Given the description of an element on the screen output the (x, y) to click on. 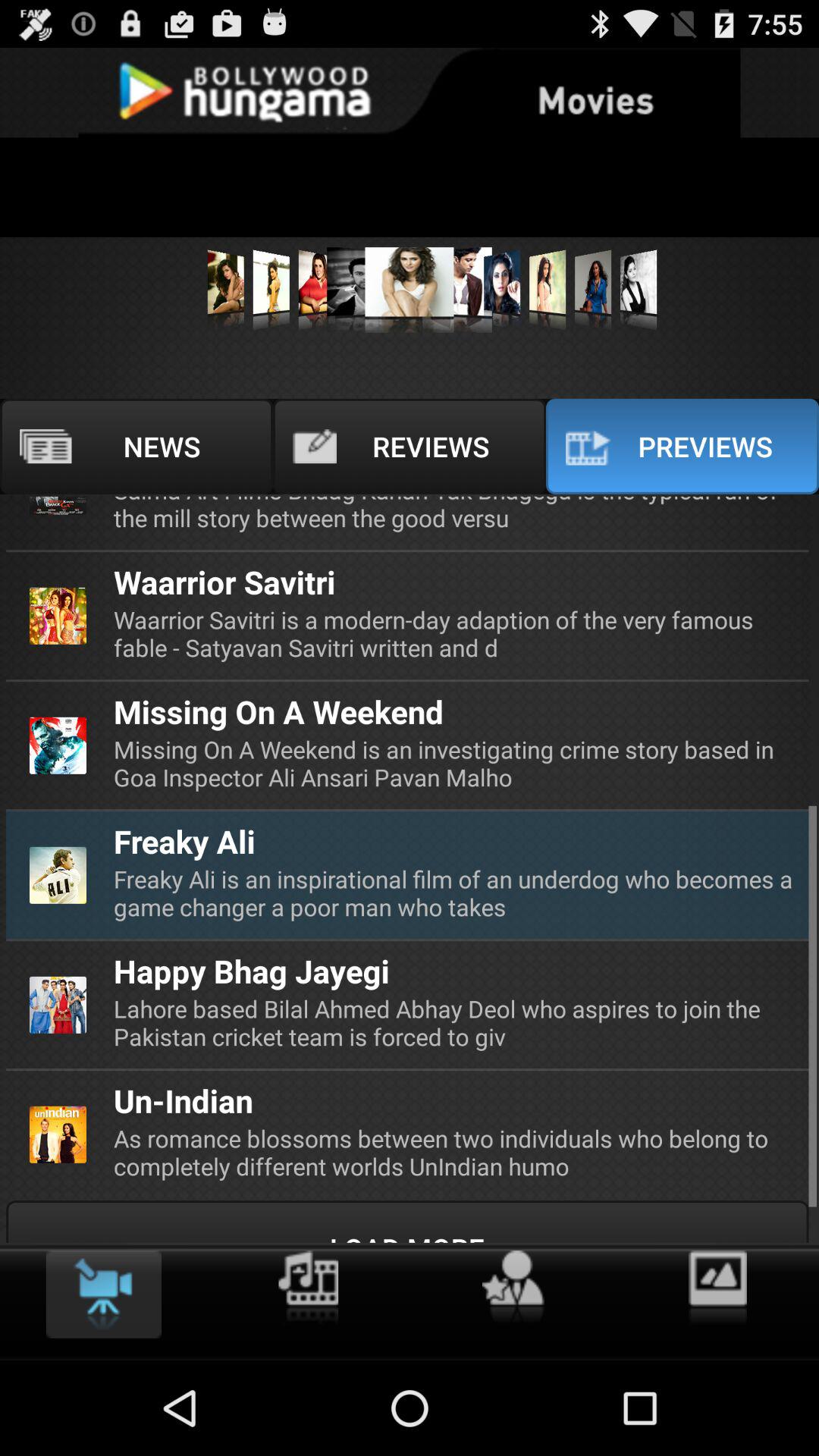
select the fifth image (409, 290)
click on bottom of the left corner image (59, 1134)
image before happy bhag jayegi text (57, 1004)
select the image to the left side of the freaky ali (59, 875)
click on the previews (682, 446)
